Given the description of an element on the screen output the (x, y) to click on. 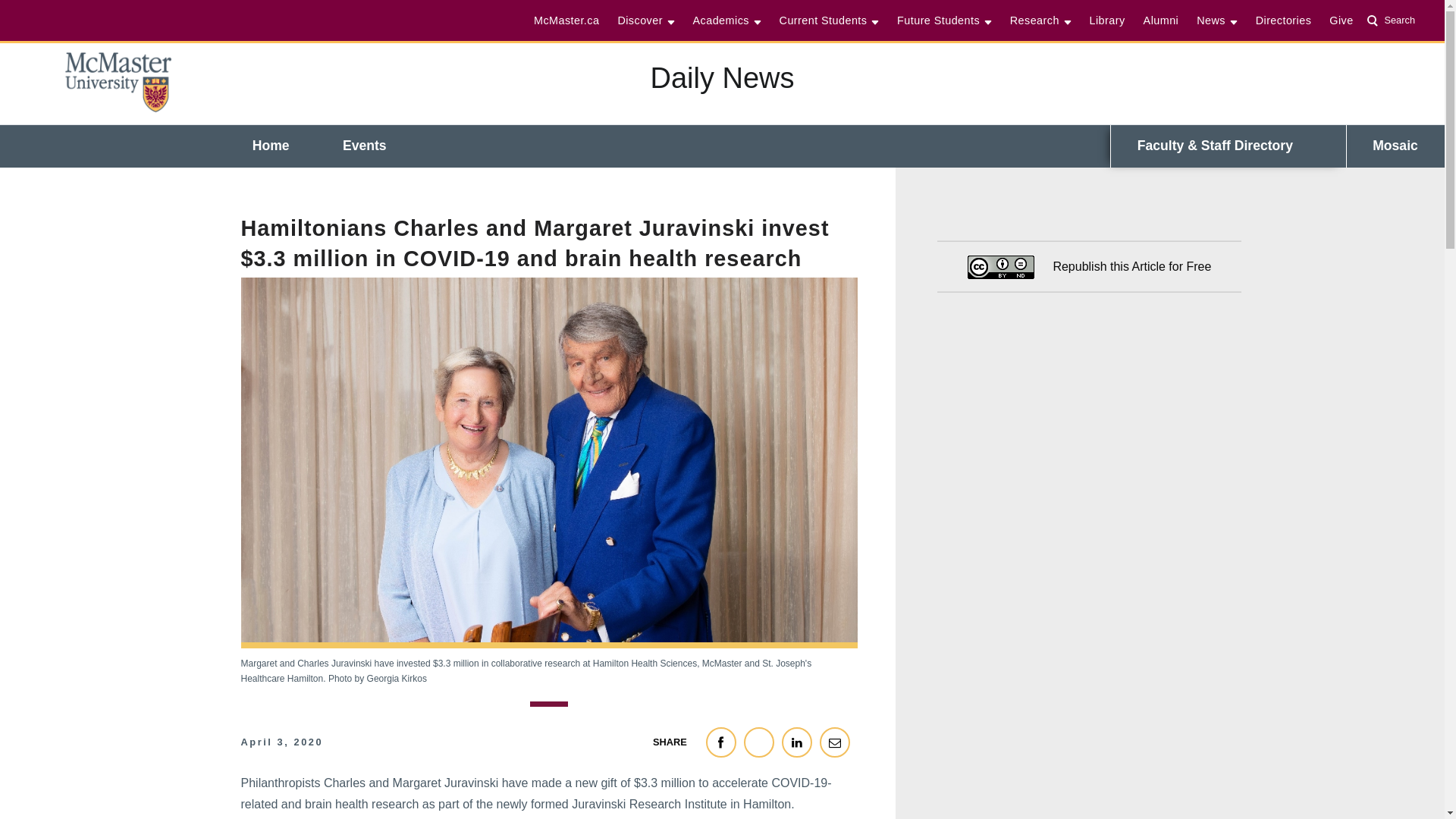
Current Students (829, 19)
Discover (645, 19)
Academics (727, 19)
Future Students (944, 19)
McMaster.ca (1394, 20)
